Given the description of an element on the screen output the (x, y) to click on. 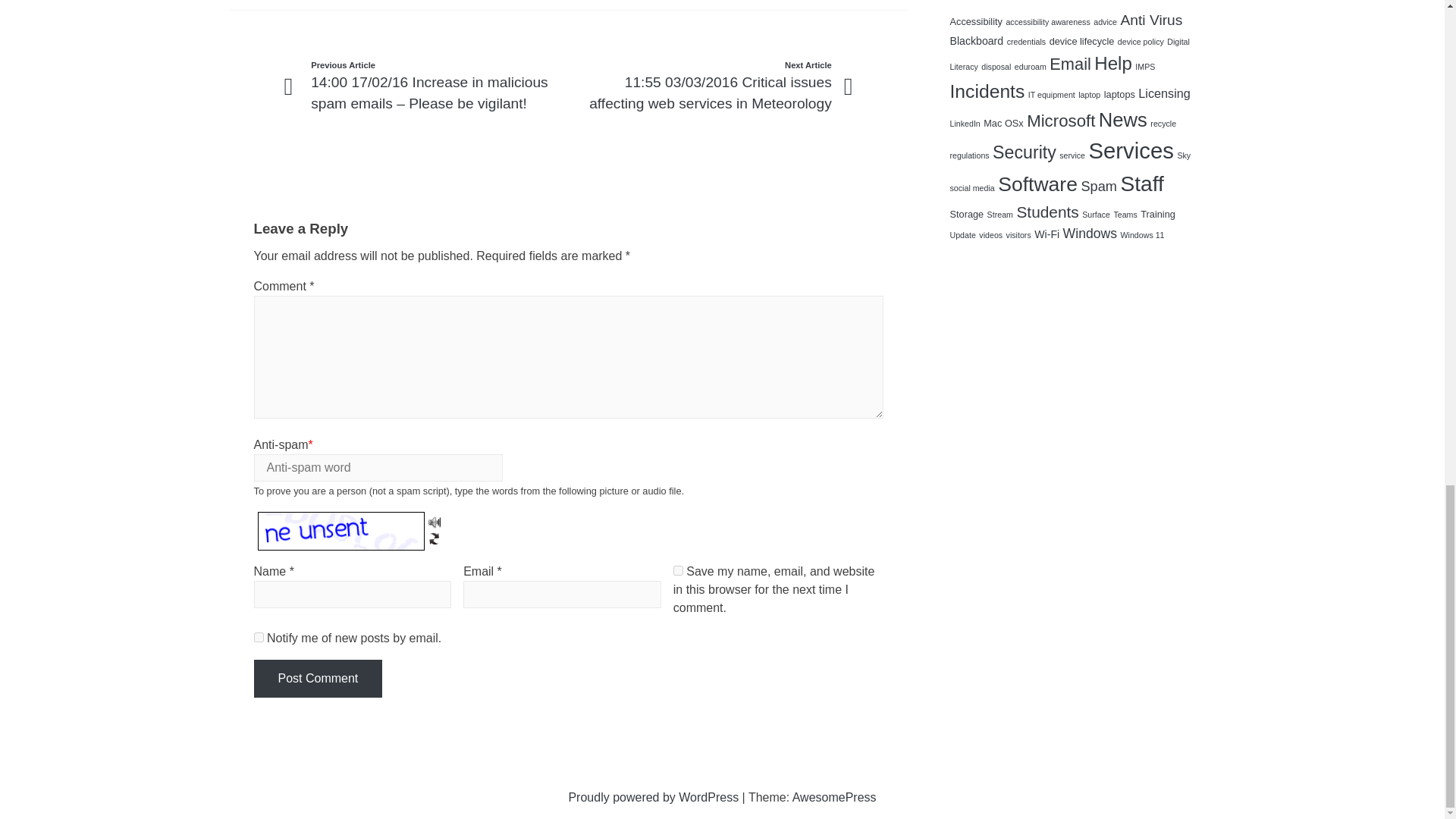
Blackboard (976, 40)
yes (677, 570)
Post Comment (317, 678)
Anti Virus (1150, 19)
Load new (433, 537)
Post Comment (317, 678)
credentials (1026, 40)
Listen (433, 521)
Accessibility (975, 21)
accessibility awareness (1047, 21)
advice (1104, 21)
subscribe (258, 637)
